Given the description of an element on the screen output the (x, y) to click on. 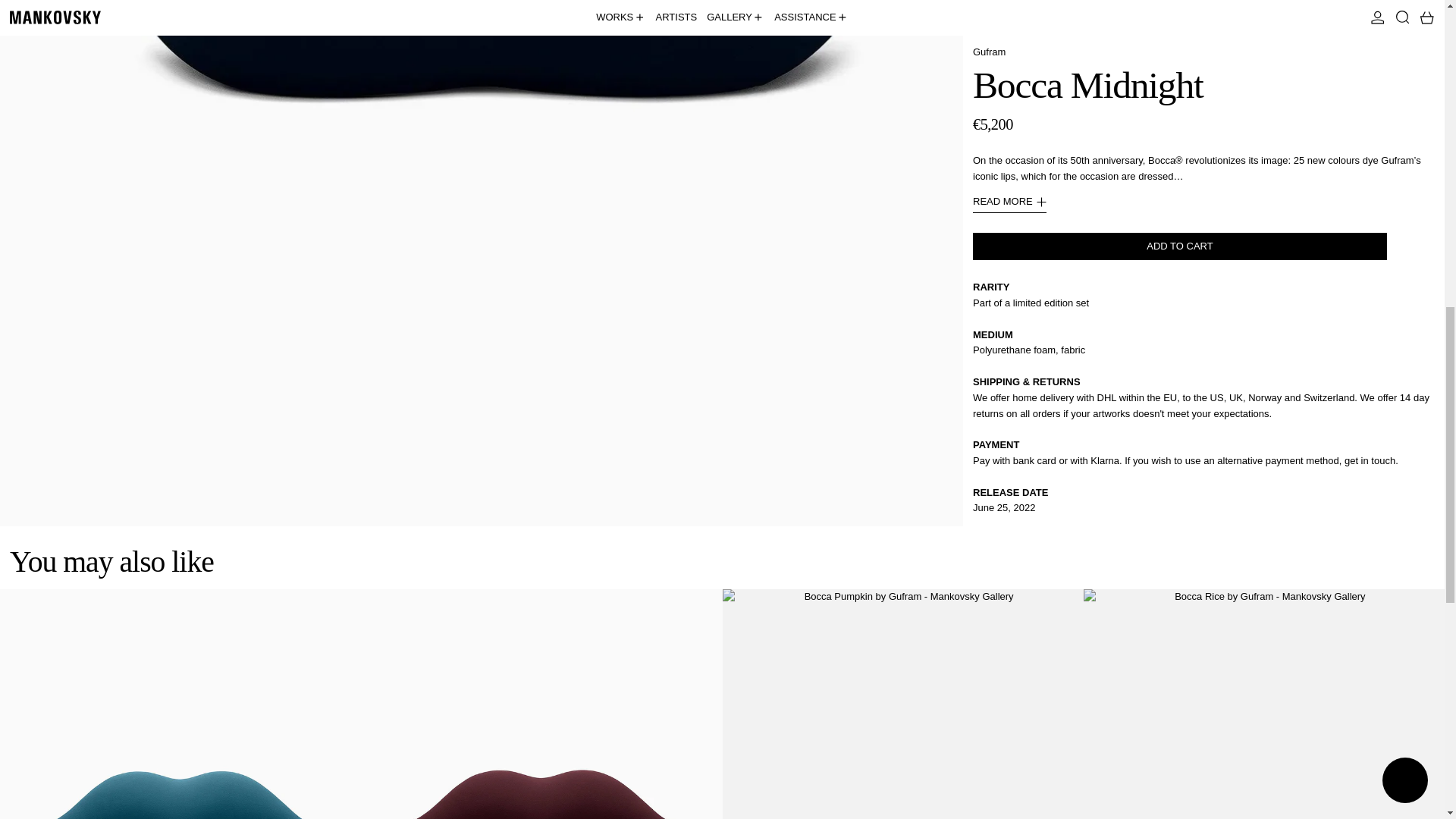
Bocca Wine (541, 703)
Bocca Pumpkin (902, 703)
Bocca Sky (180, 703)
